Given the description of an element on the screen output the (x, y) to click on. 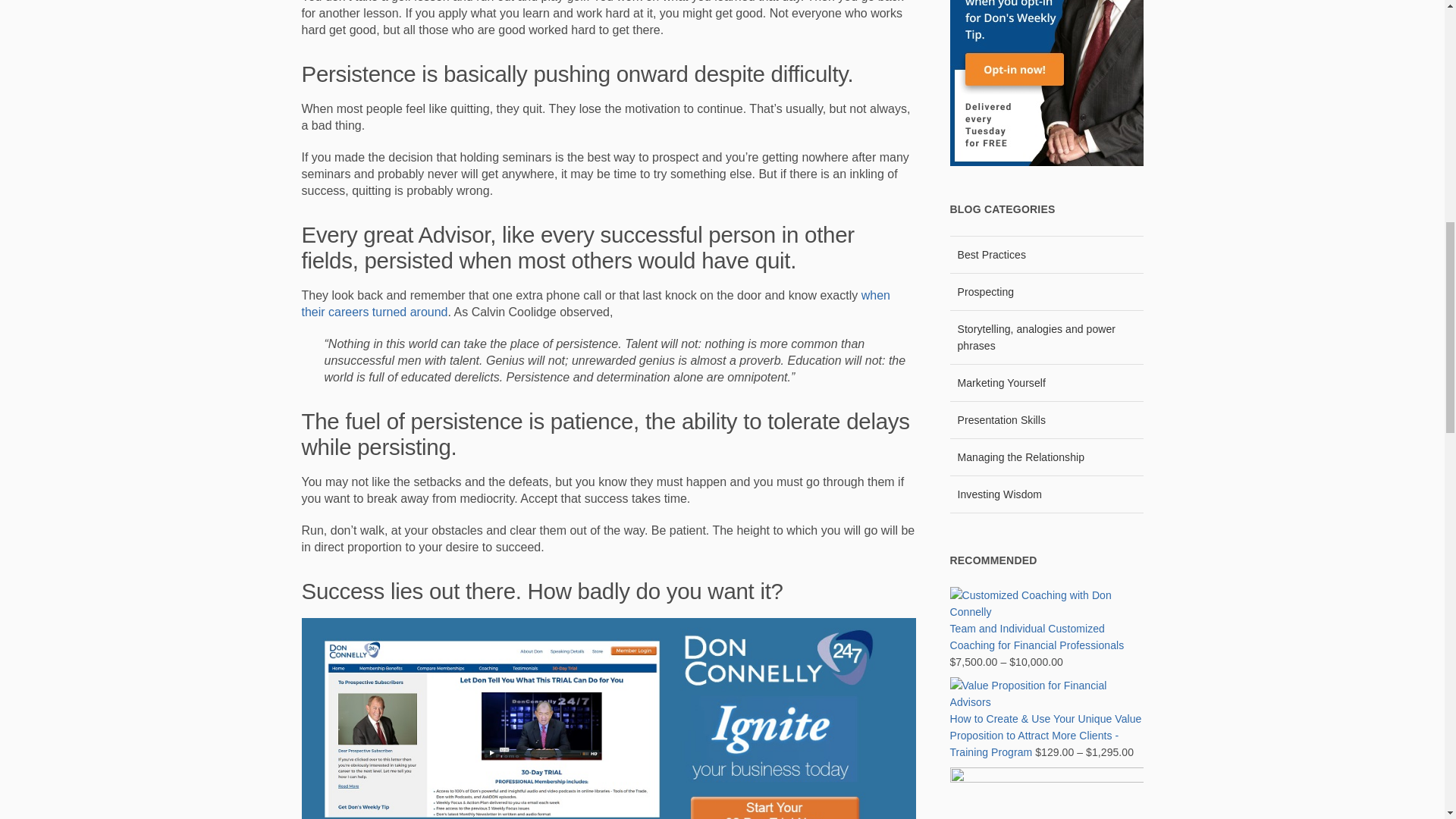
when their careers turned around (595, 303)
when their careers turned around (595, 303)
